Given the description of an element on the screen output the (x, y) to click on. 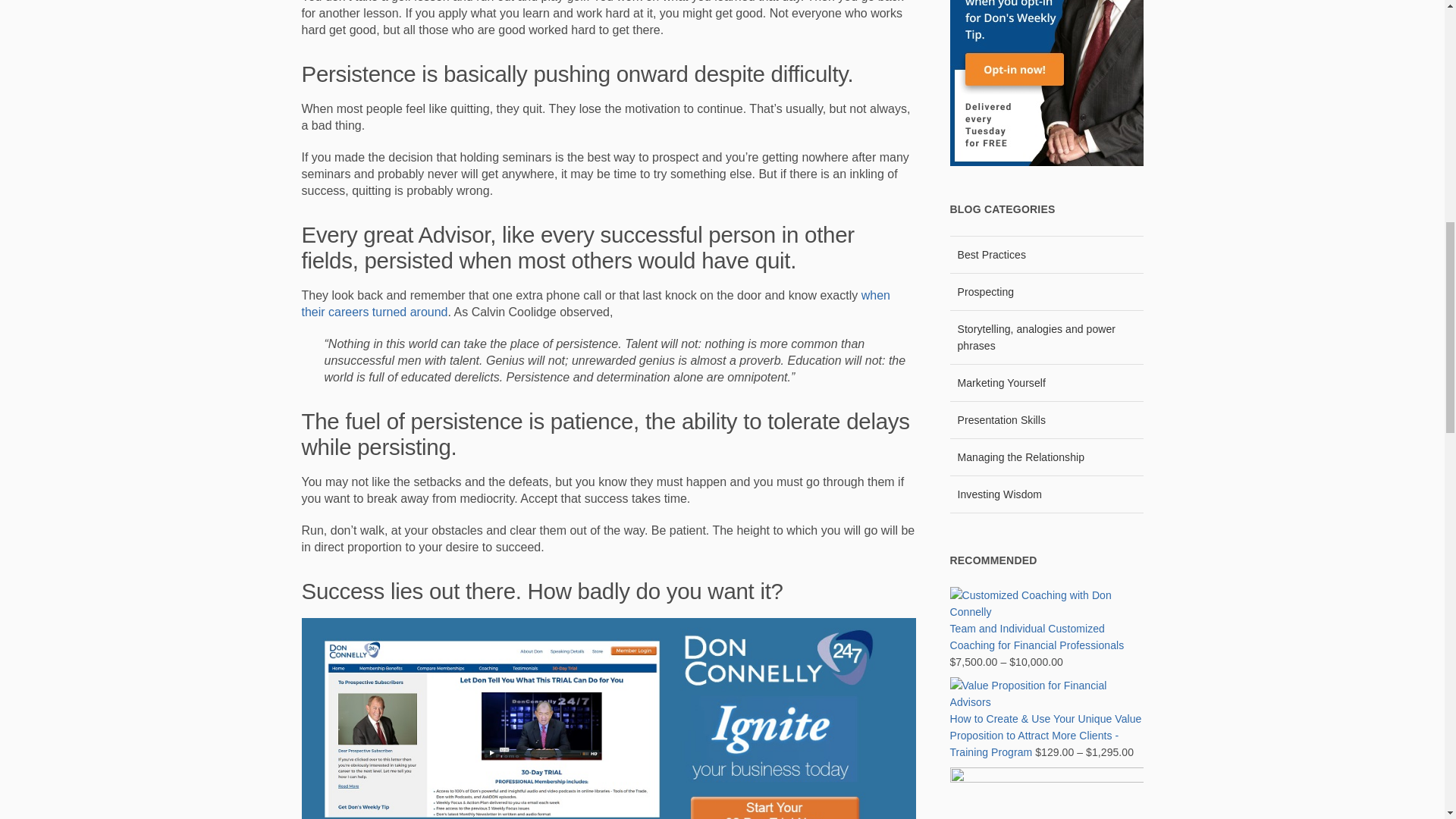
when their careers turned around (595, 303)
when their careers turned around (595, 303)
